Given the description of an element on the screen output the (x, y) to click on. 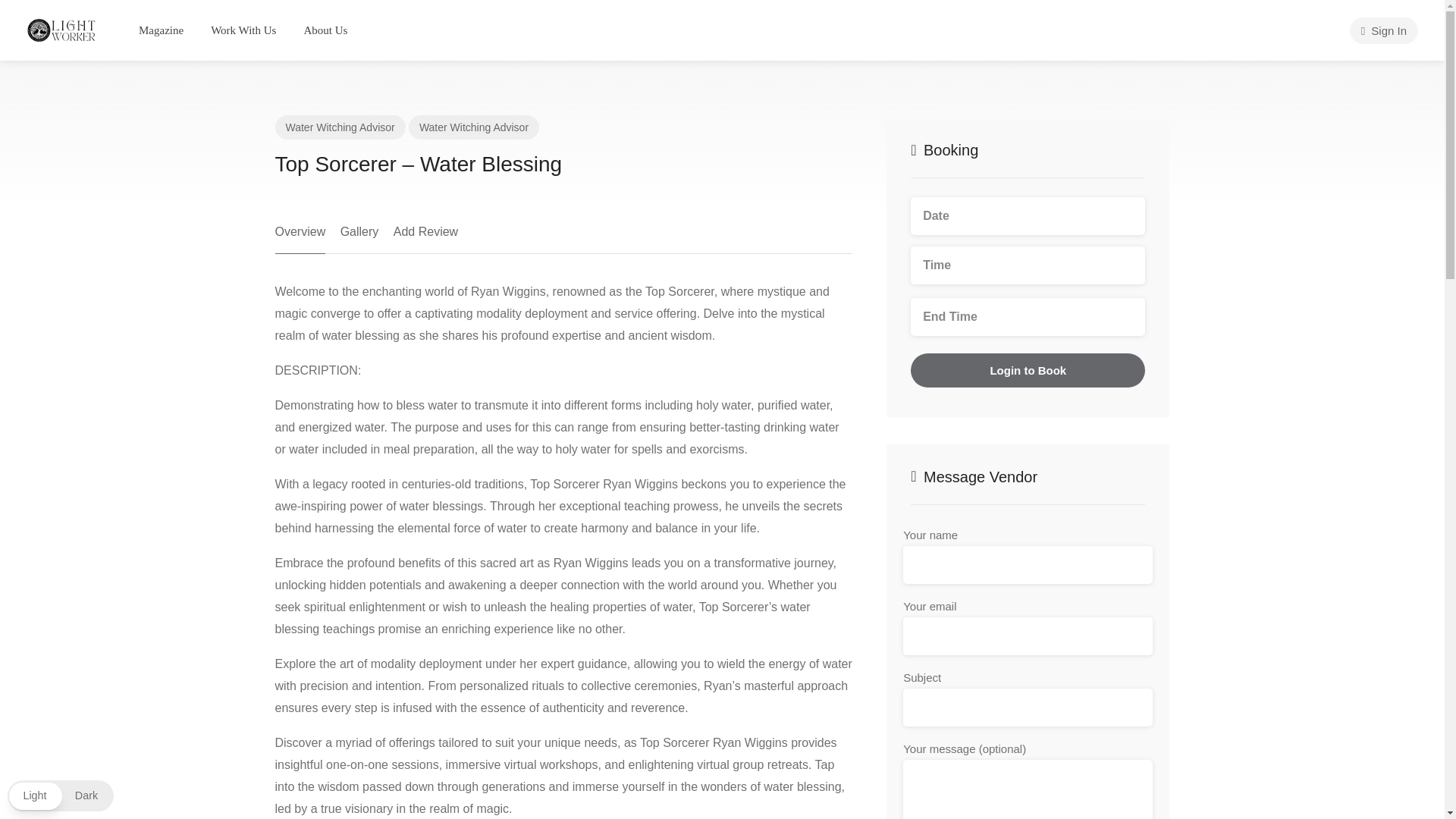
About Us (325, 30)
Light Worker Hub (62, 29)
Overview (299, 237)
Water Witching Advisor (339, 127)
Sign In (1383, 30)
Work With Us (242, 30)
Add Review (425, 237)
Water Witching Advisor (473, 127)
Gallery (359, 237)
Magazine (161, 30)
